Given the description of an element on the screen output the (x, y) to click on. 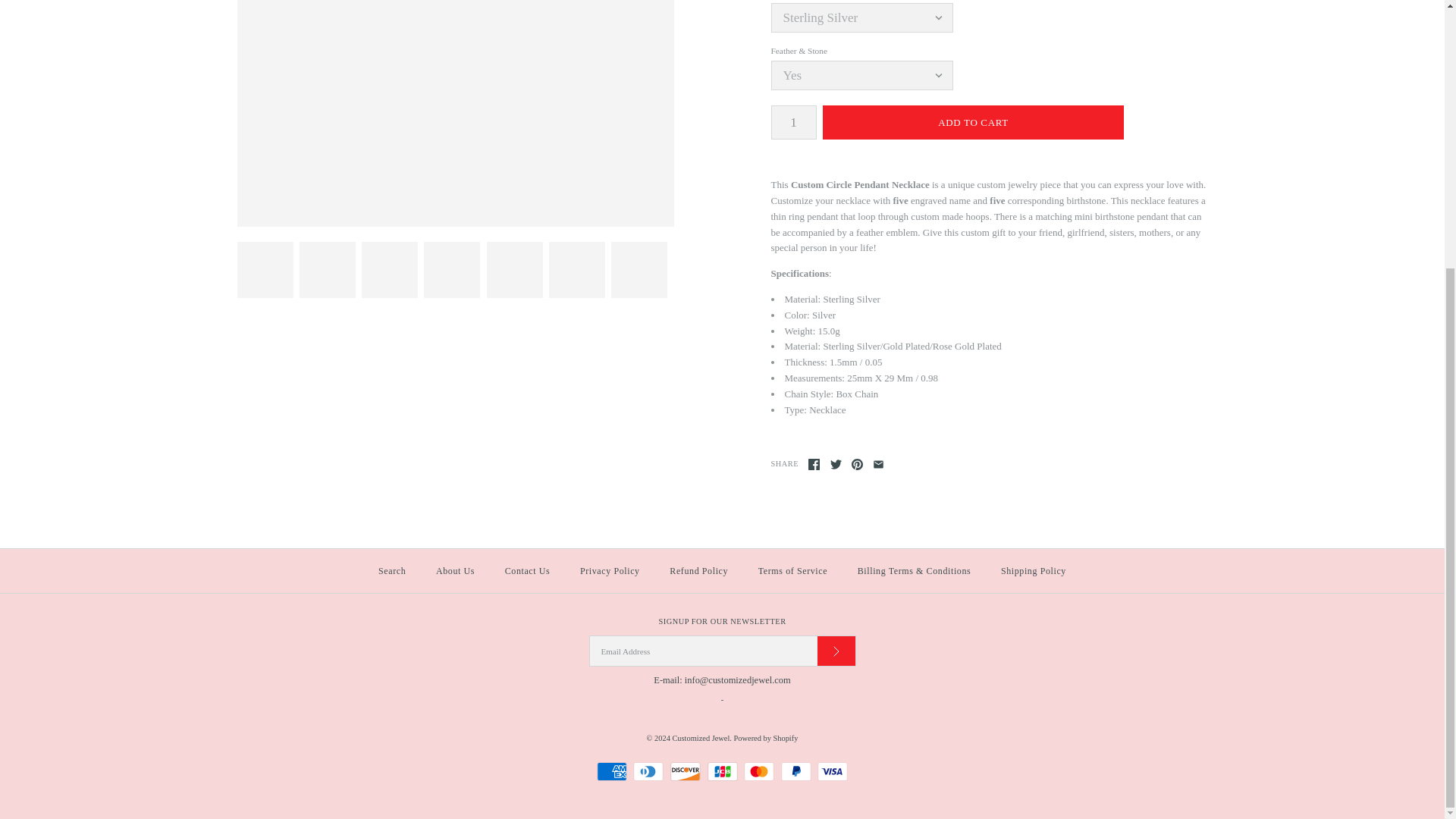
1 (792, 122)
Twitter (835, 464)
Facebook (813, 464)
Add to Cart (973, 122)
Diners Club (648, 771)
Email (877, 464)
Pin the main image (857, 464)
Pinterest (857, 464)
Discover (684, 771)
Share on Facebook (813, 464)
Mastercard (759, 771)
Share on Twitter (835, 464)
Share using email (877, 464)
American Express (611, 771)
Visa (831, 771)
